Given the description of an element on the screen output the (x, y) to click on. 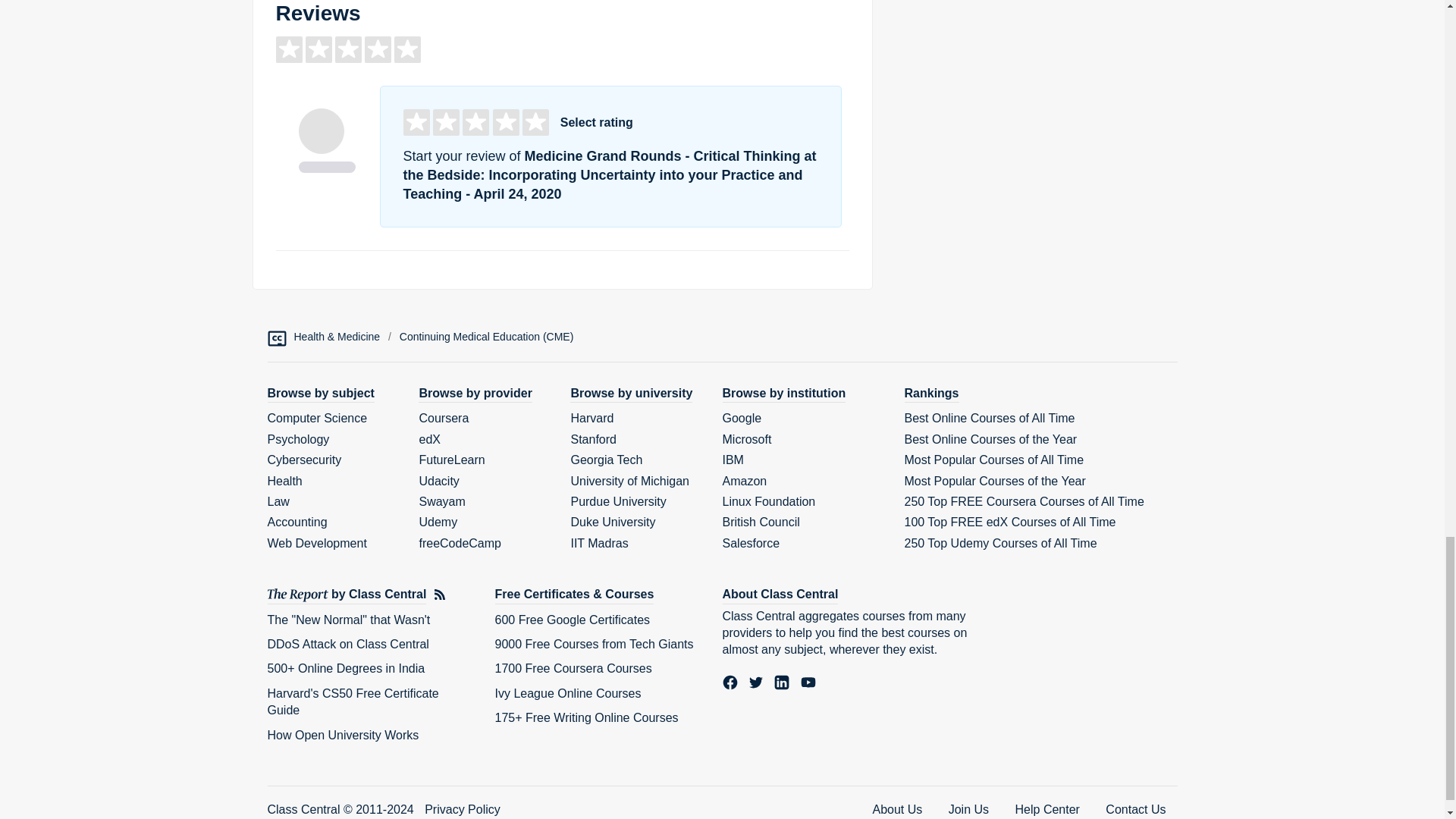
DDoS Attack on Class Central (347, 644)
Ivy League Online Courses (567, 693)
600 Free Google Certificates (572, 619)
1700 Free Coursera Courses (572, 667)
How Open University Works (342, 735)
Harvard's CS50 Free Certificate Guide (352, 701)
The "New Normal" that Wasn't (347, 619)
9000 Free Courses from Tech Giants (594, 644)
Free Courses and Certificates (574, 594)
